Given the description of an element on the screen output the (x, y) to click on. 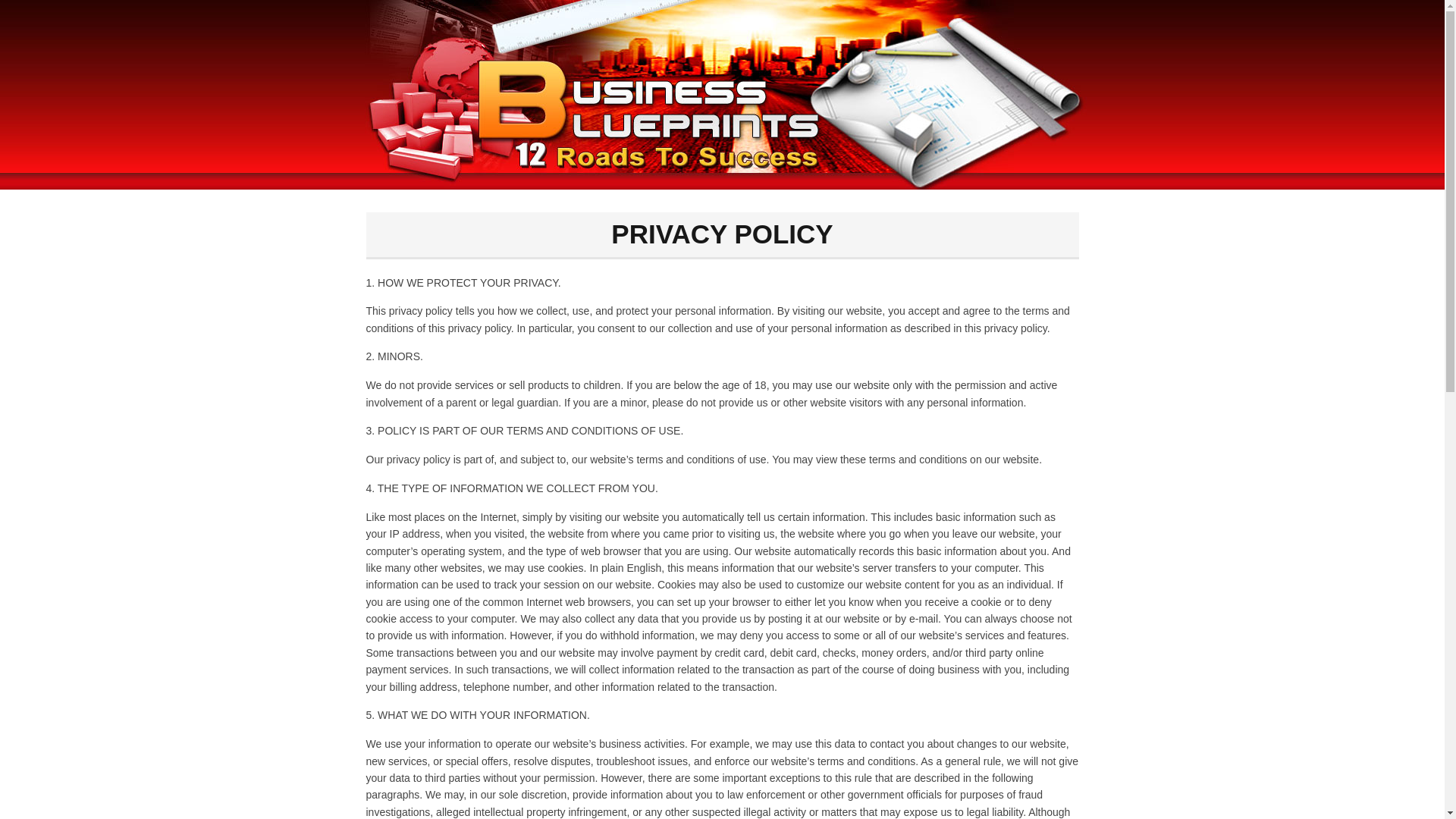
12 Roads To Success Element type: hover (721, 94)
